Given the description of an element on the screen output the (x, y) to click on. 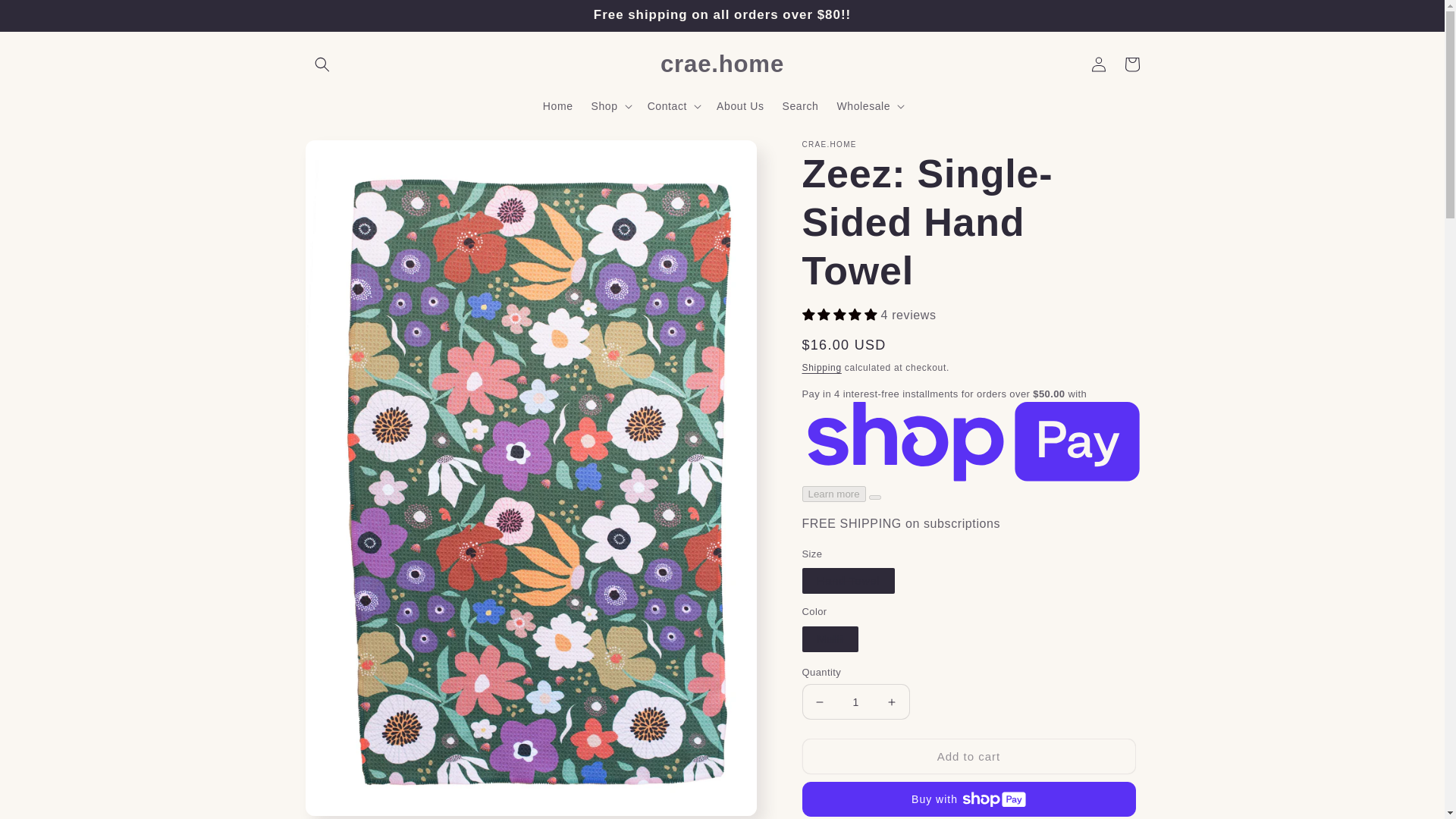
Home (558, 105)
Skip to content (45, 17)
About Us (740, 105)
crae.home (721, 63)
1 (856, 701)
